Given the description of an element on the screen output the (x, y) to click on. 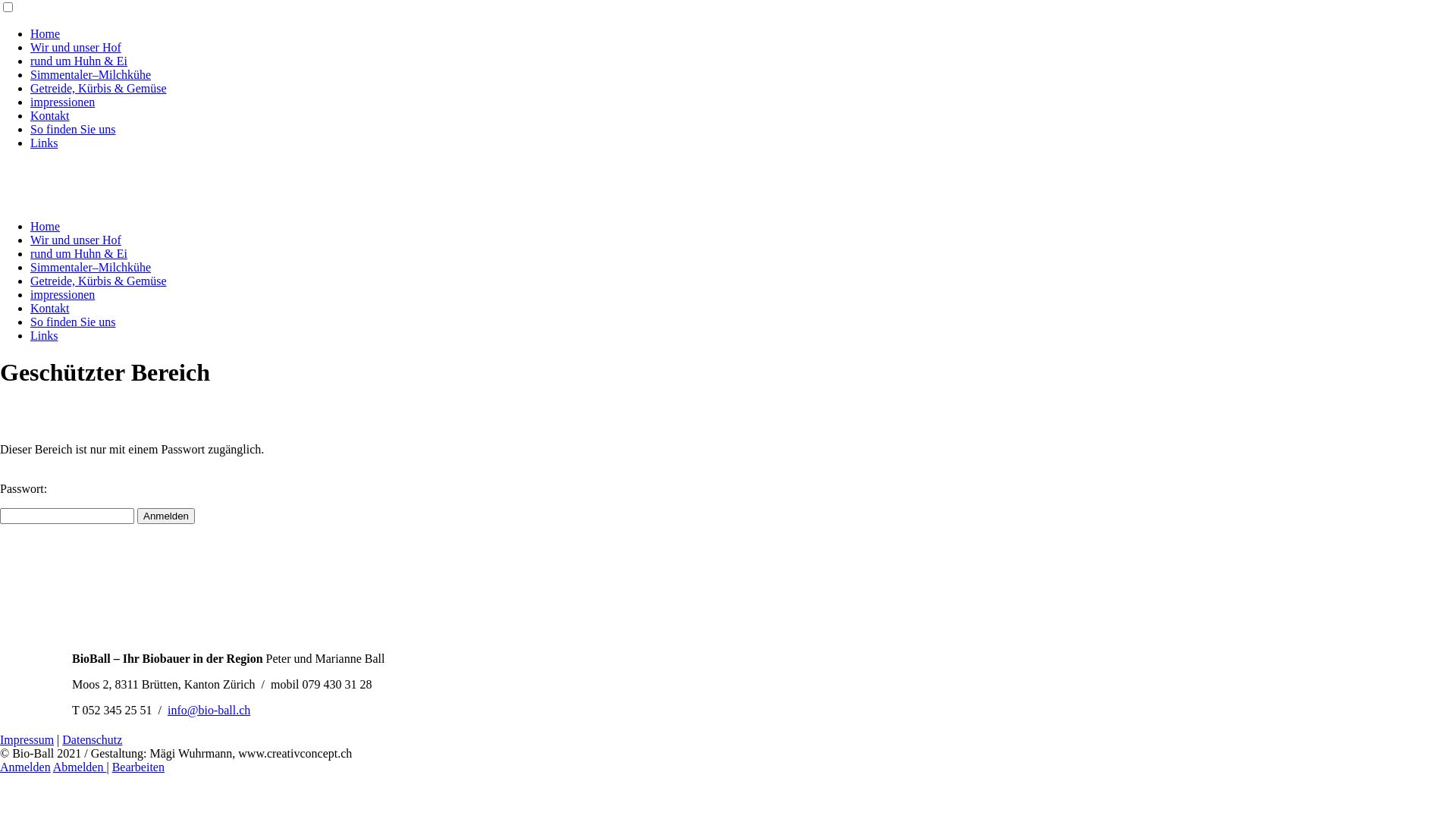
Links Element type: text (43, 335)
Abmelden Element type: text (79, 766)
Links Element type: text (43, 142)
Wir und unser Hof Element type: text (75, 239)
Wir und unser Hof Element type: text (75, 46)
Datenschutz Element type: text (92, 739)
So finden Sie uns Element type: text (72, 321)
rund um Huhn & Ei Element type: text (78, 253)
Anmelden Element type: text (25, 766)
Kontakt Element type: text (49, 115)
Impressum Element type: text (26, 739)
info@bio-ball.ch Element type: text (208, 709)
So finden Sie uns Element type: text (72, 128)
Home Element type: text (44, 225)
impressionen Element type: text (62, 101)
impressionen Element type: text (62, 294)
Anmelden Element type: text (165, 516)
Bearbeiten Element type: text (138, 766)
rund um Huhn & Ei Element type: text (78, 60)
Home Element type: text (44, 33)
Kontakt Element type: text (49, 307)
